Given the description of an element on the screen output the (x, y) to click on. 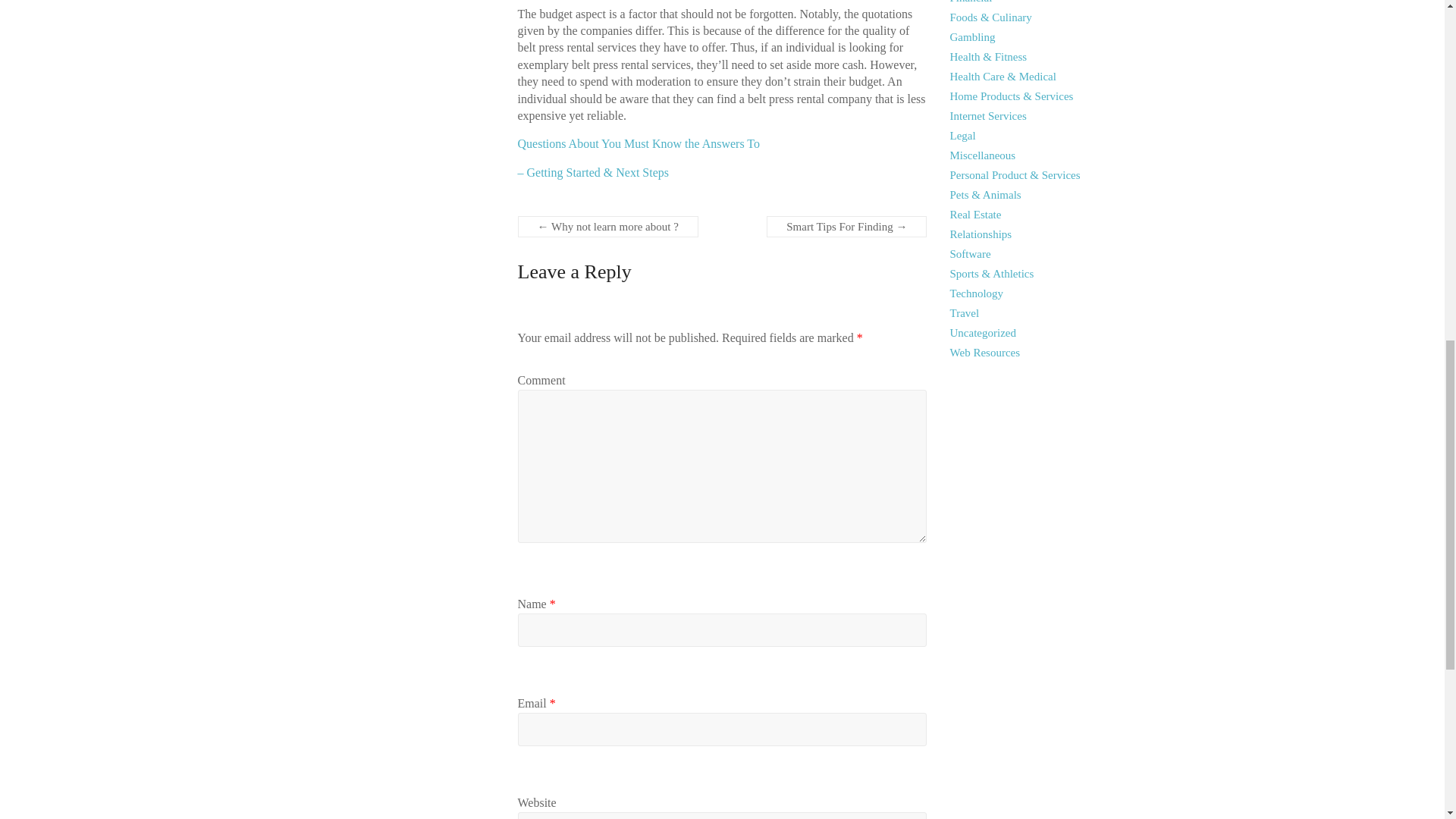
Gambling (972, 37)
Financial (971, 2)
Questions About You Must Know the Answers To (638, 143)
